Given the description of an element on the screen output the (x, y) to click on. 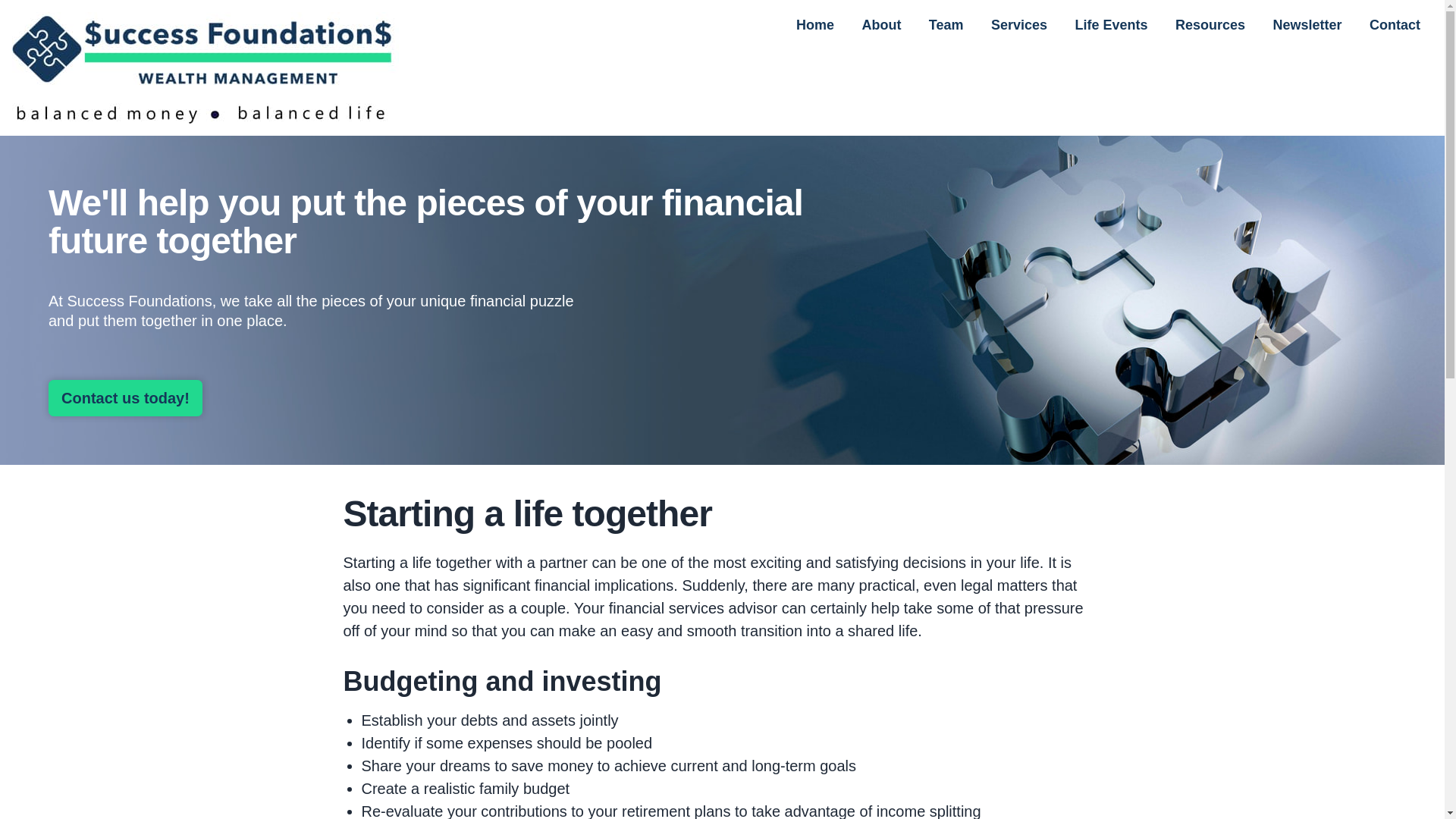
Services (1018, 24)
Team (946, 24)
Life Events (1111, 24)
Contact us today! (125, 398)
Contact (1394, 24)
Resources (1210, 24)
Home (814, 24)
About (880, 24)
Newsletter (1307, 24)
